Given the description of an element on the screen output the (x, y) to click on. 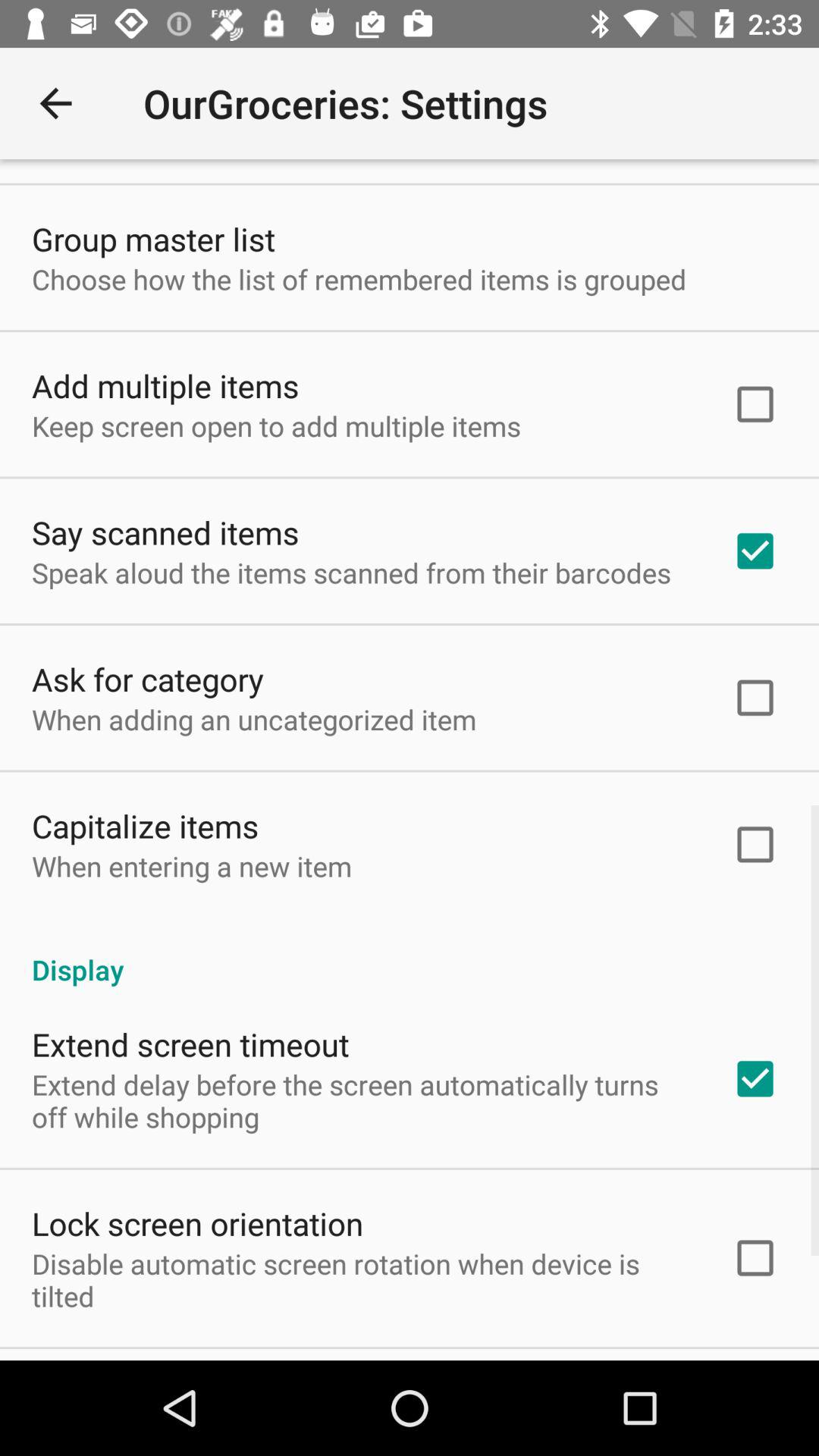
turn off lock screen orientation (197, 1222)
